Given the description of an element on the screen output the (x, y) to click on. 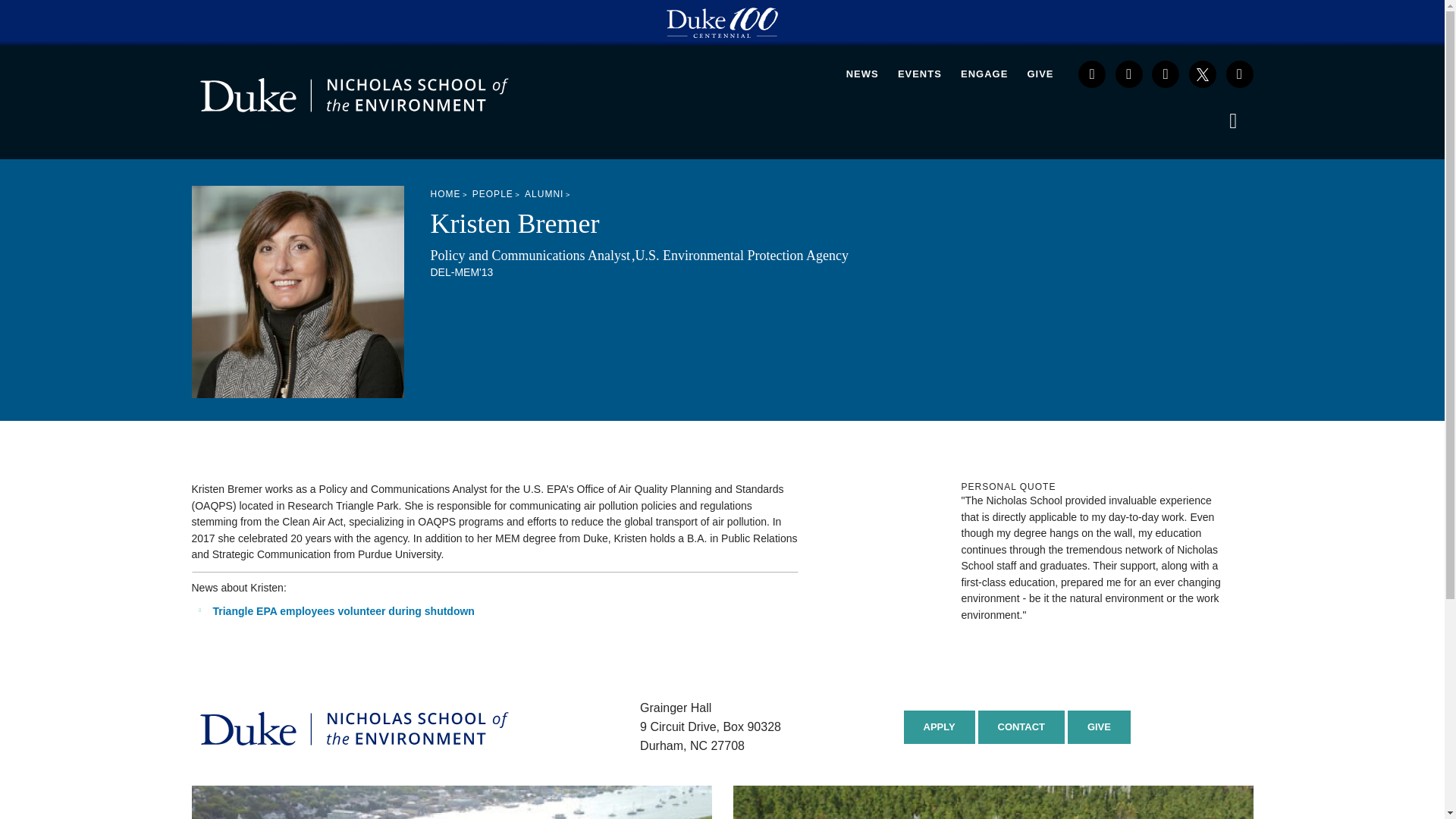
Home (353, 95)
EVENTS (920, 73)
GIVE (1039, 73)
Instagram (1128, 73)
ENGAGE (983, 73)
NEWS (862, 73)
Youtube (1238, 73)
Home (353, 727)
Linked In (1165, 73)
Facebook (1091, 73)
Twitter (1202, 73)
